Given the description of an element on the screen output the (x, y) to click on. 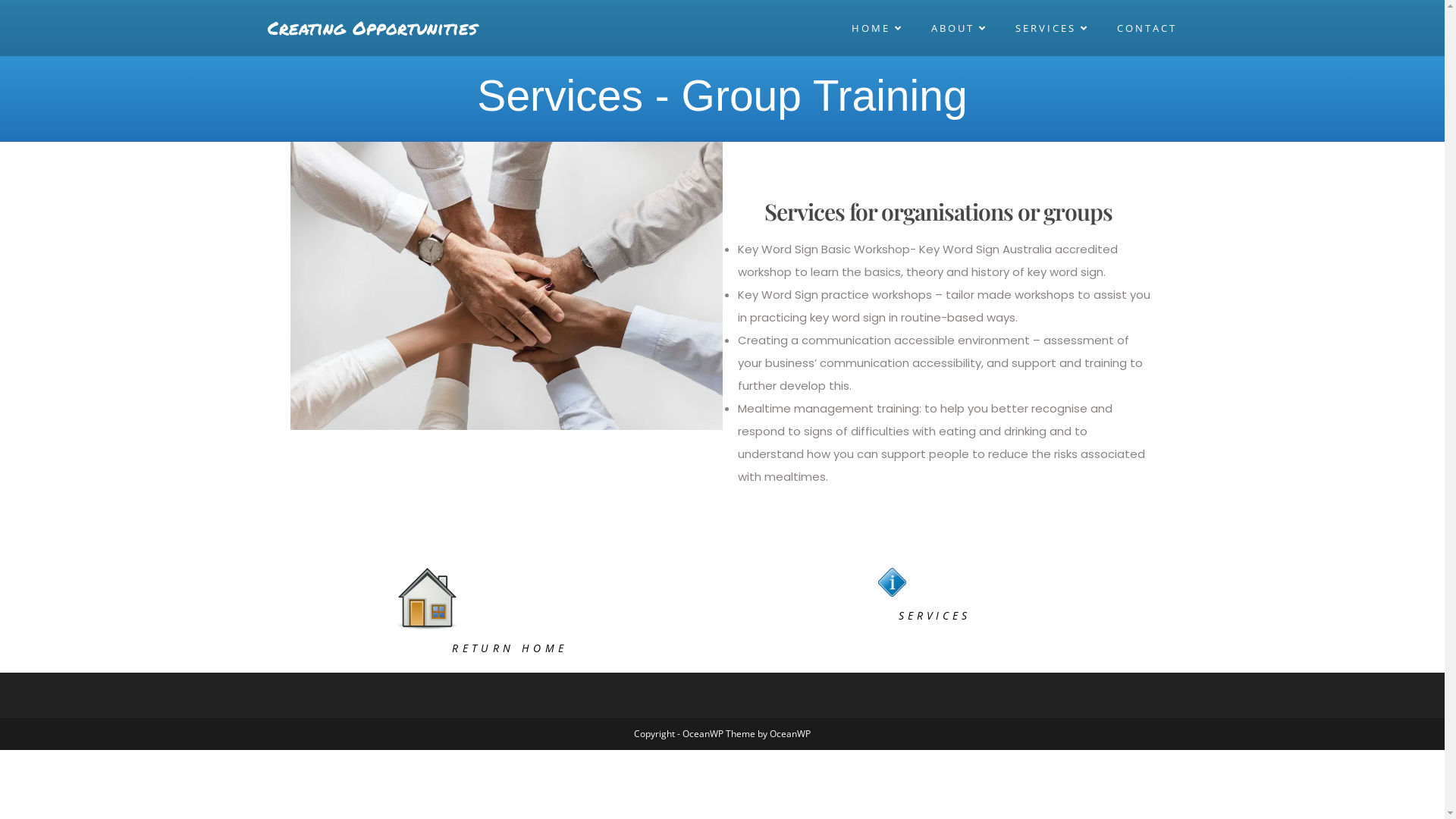
ABOUT Element type: text (961, 28)
Creating Opportunities Element type: text (371, 27)
SERVICES Element type: text (1053, 28)
CONTACT Element type: text (1146, 28)
HOME Element type: text (878, 28)
